Given the description of an element on the screen output the (x, y) to click on. 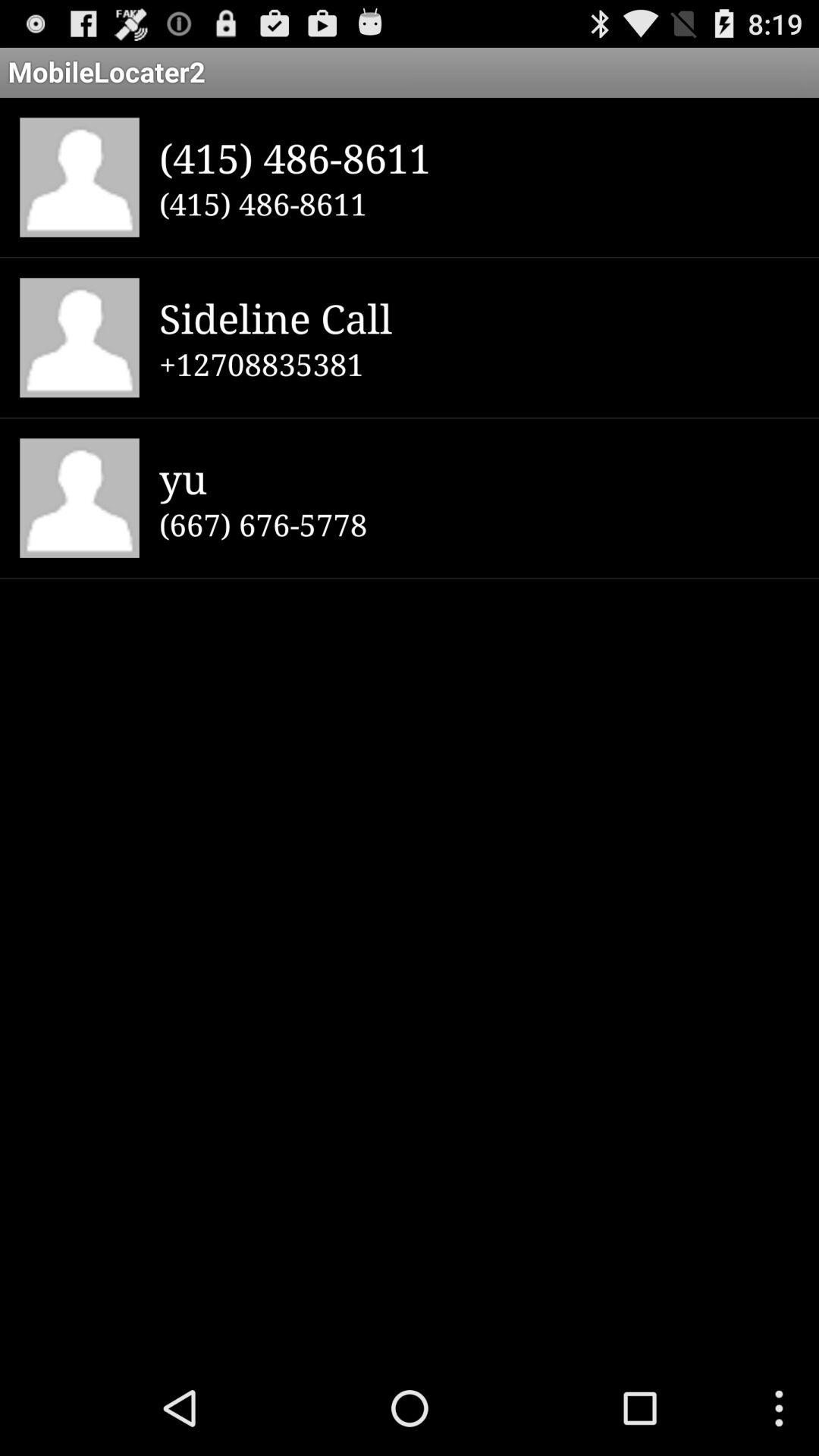
choose the +12708835381 icon (479, 363)
